Given the description of an element on the screen output the (x, y) to click on. 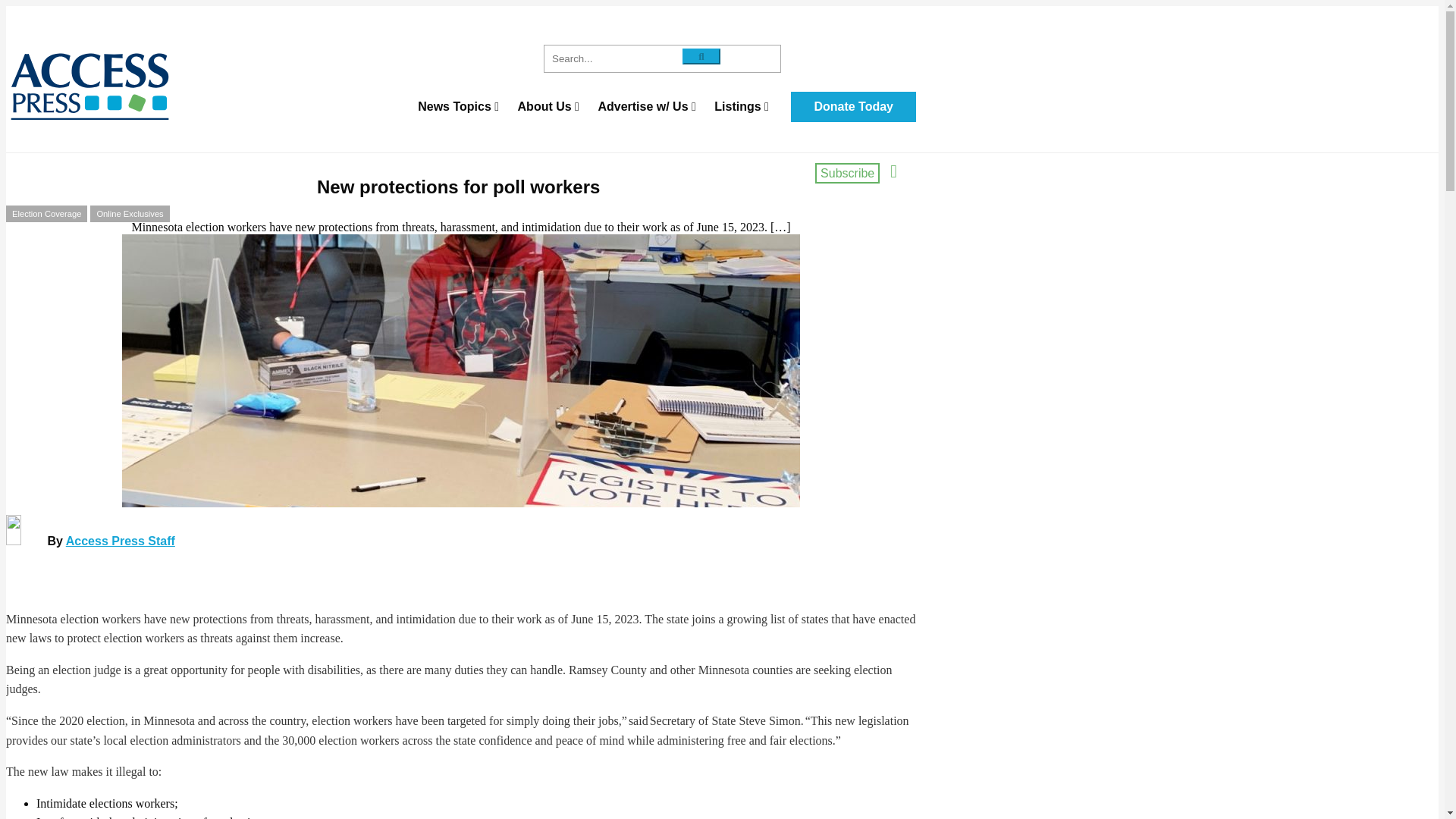
Access Press home page (195, 86)
Click to email a link to a friend (409, 260)
Click to share on Facebook (469, 260)
About Us (548, 106)
Click to share on Twitter (439, 260)
News Topics (458, 106)
Subscribe (847, 172)
Access Press (195, 86)
Click to print (499, 260)
